Given the description of an element on the screen output the (x, y) to click on. 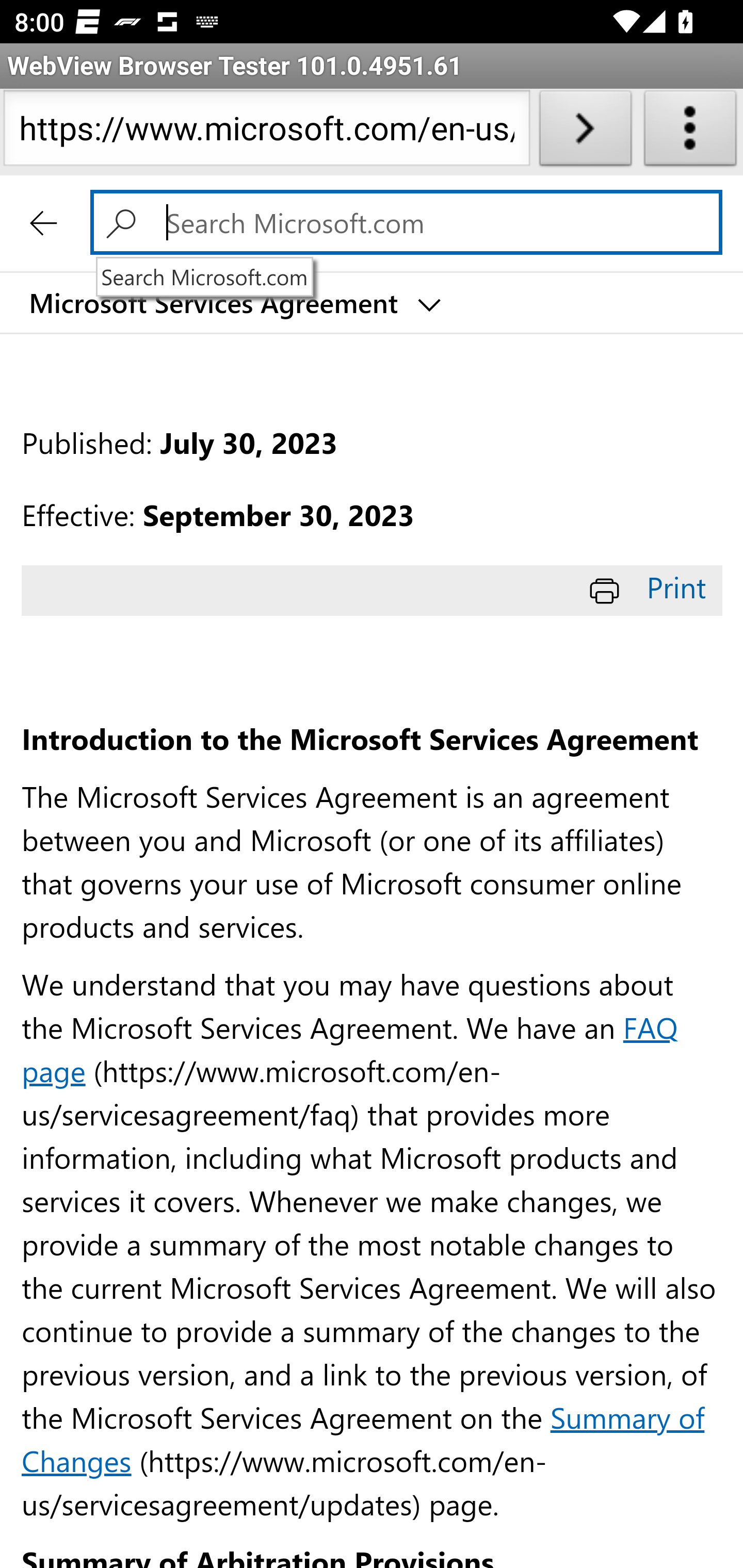
https://www.microsoft.com/en-us/servicesagreement (266, 132)
Load URL (585, 132)
About WebView (690, 132)
Close search (44, 222)
Search Microsoft.com (126, 221)
Microsoft Services Agreement (233, 302)
Print (651, 586)
FAQ page (350, 1047)
Summary of Changes (363, 1438)
